Given the description of an element on the screen output the (x, y) to click on. 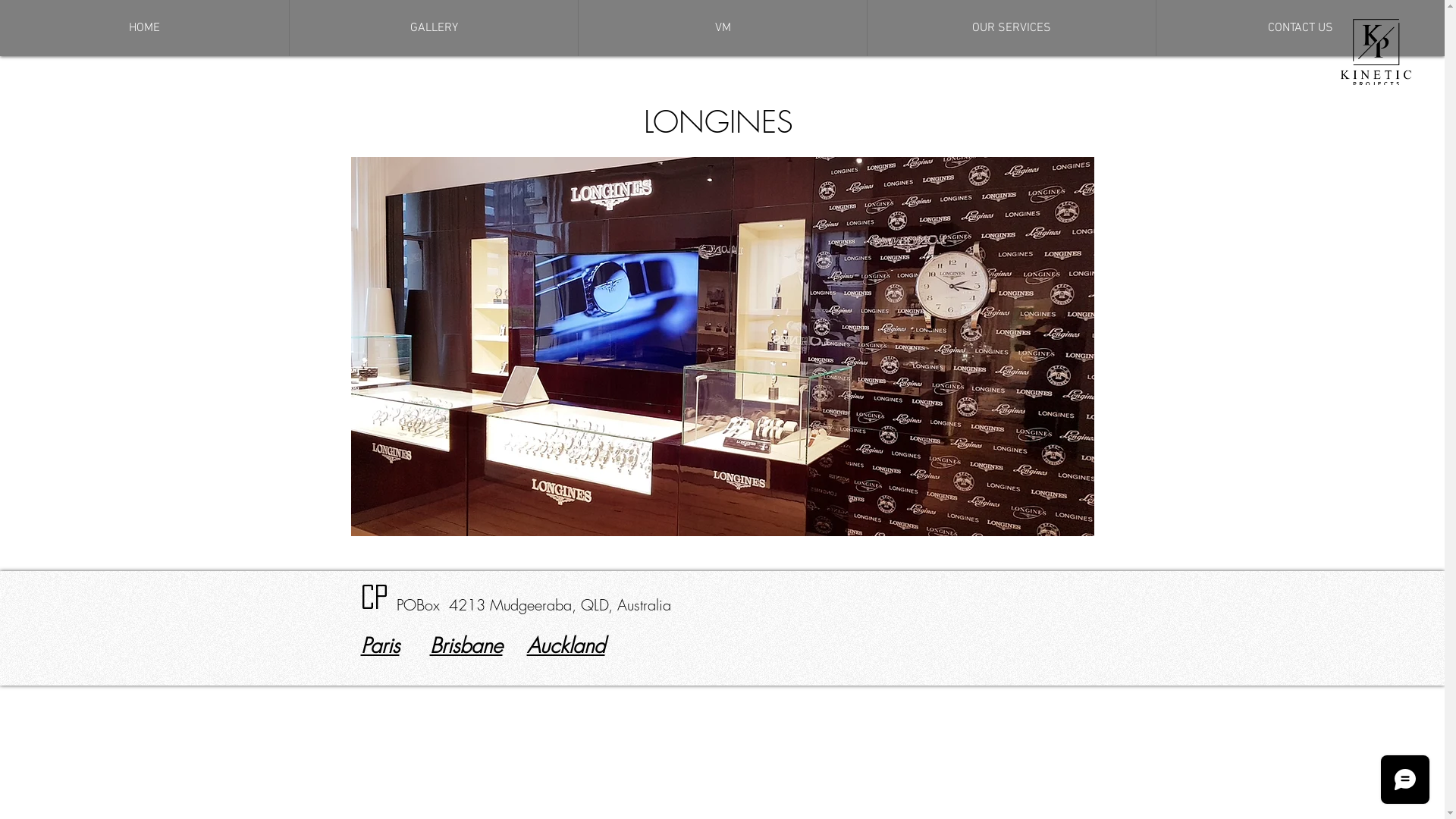
Brisbane Element type: text (465, 645)
Paris Element type: text (379, 645)
GALLERY Element type: text (432, 28)
HOME Element type: text (144, 28)
Auckland Element type: text (565, 645)
OUR SERVICES Element type: text (1010, 28)
CONTACT US Element type: text (1299, 28)
VM Element type: text (721, 28)
